Given the description of an element on the screen output the (x, y) to click on. 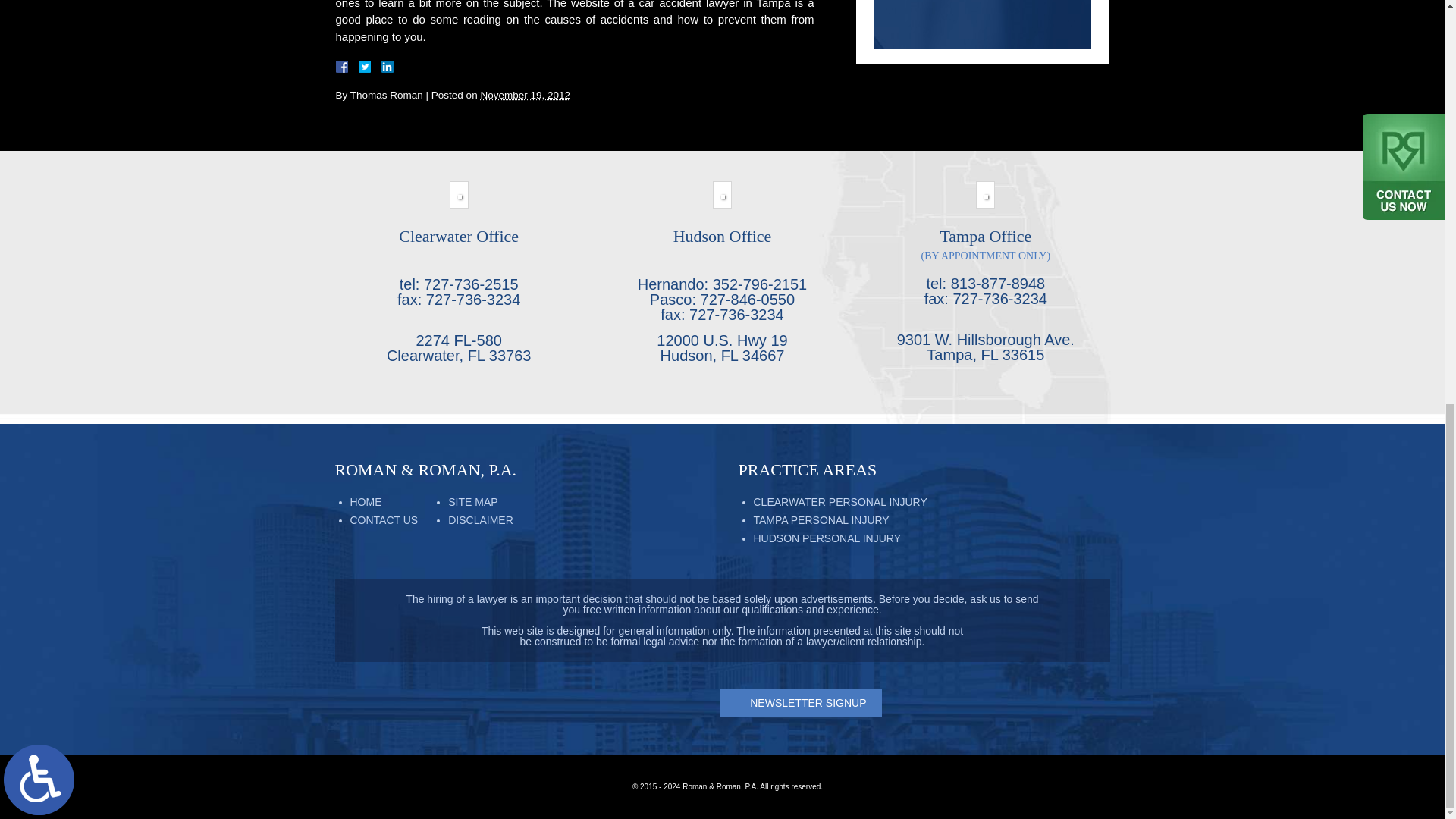
Twitter (370, 66)
LinkedIn (380, 66)
2012-11-19T00:38:08-0800 (525, 94)
Facebook (359, 66)
